Given the description of an element on the screen output the (x, y) to click on. 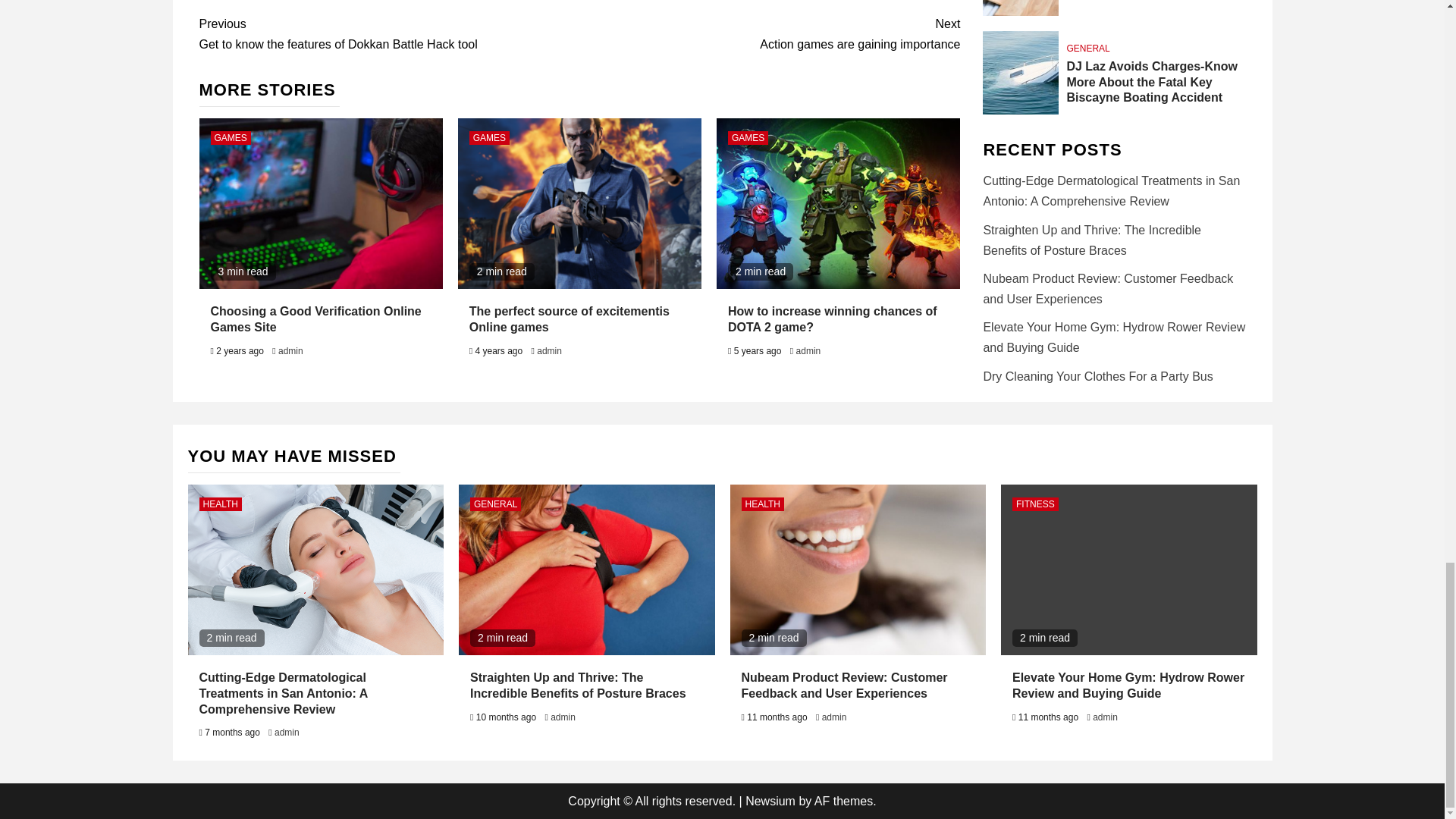
GAMES (230, 137)
admin (290, 350)
The perfect source of excitementis Online games (568, 318)
Choosing a Good Verification Online Games Site (316, 318)
admin (549, 350)
GAMES (488, 137)
GAMES (388, 33)
